Given the description of an element on the screen output the (x, y) to click on. 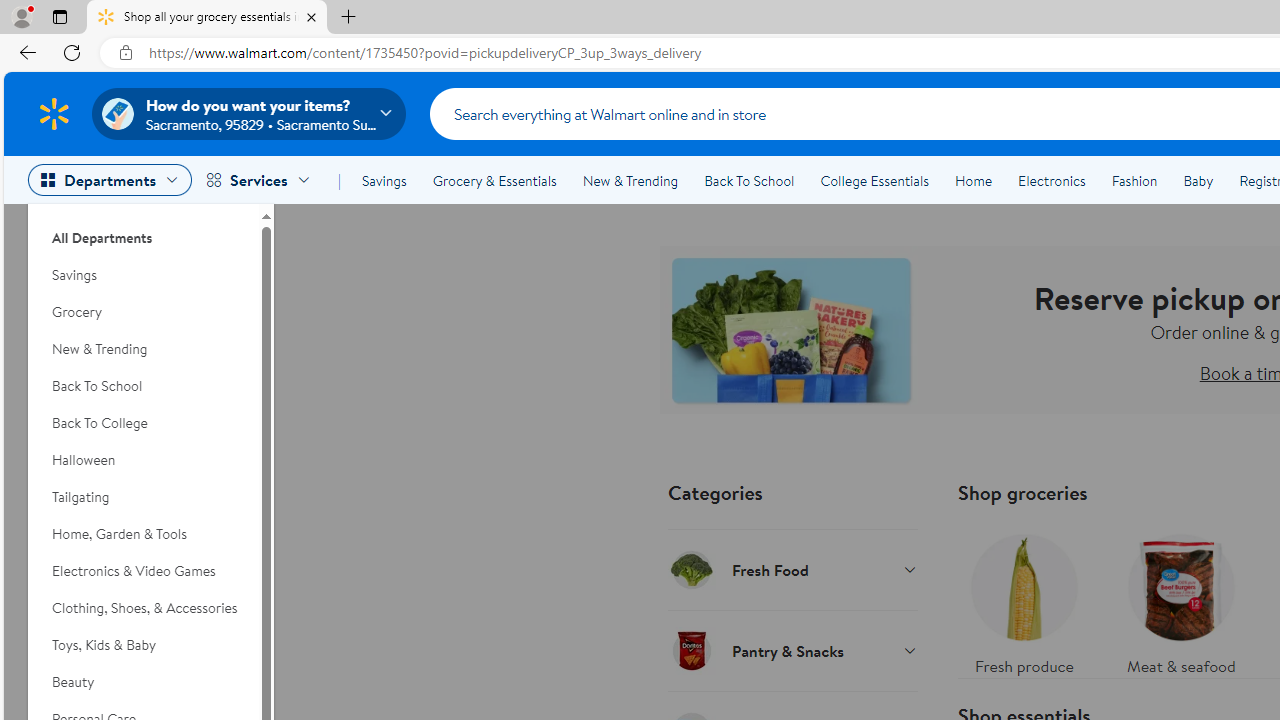
College Essentials (874, 180)
Grocery & Essentials (493, 180)
Fashion (1134, 180)
Pantry & Snacks (792, 650)
Electronics (1051, 180)
Clothing, Shoes, & Accessories (143, 608)
Fresh produce (1024, 599)
Clothing, Shoes, & Accessories (143, 608)
Savings (384, 180)
Electronics & Video Games (143, 570)
Halloween (143, 460)
